Given the description of an element on the screen output the (x, y) to click on. 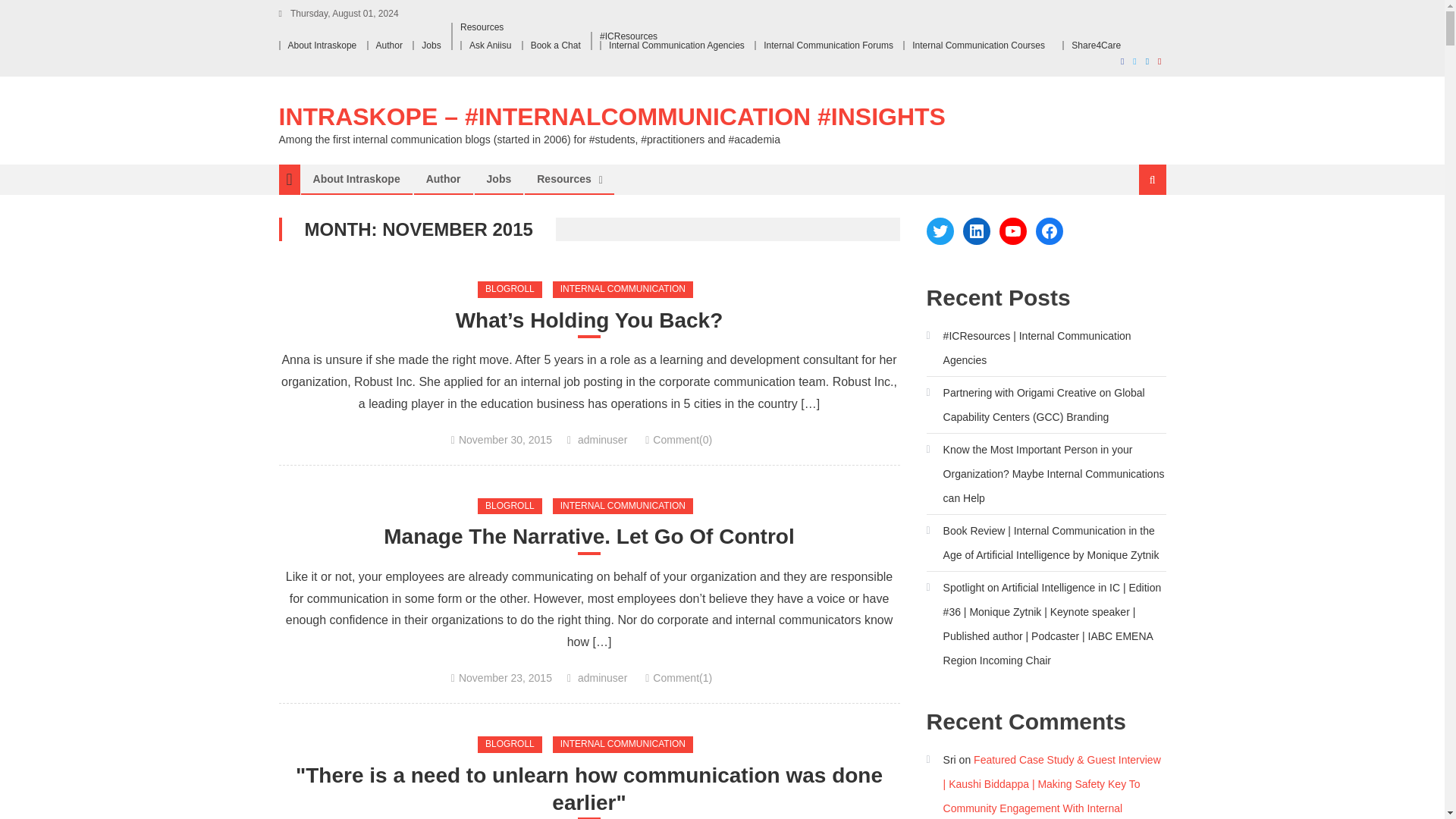
Internal Communication Forums (827, 45)
Author (442, 178)
About Intraskope (356, 178)
Share4Care (1096, 45)
INTERNAL COMMUNICATION (623, 289)
BLOGROLL (509, 506)
Resources (563, 178)
Resources (481, 27)
November 30, 2015 (504, 439)
Internal Communication Agencies (676, 45)
Author (389, 45)
About Intraskope (322, 45)
Book a Chat (555, 45)
Jobs (431, 45)
Search (1133, 230)
